Given the description of an element on the screen output the (x, y) to click on. 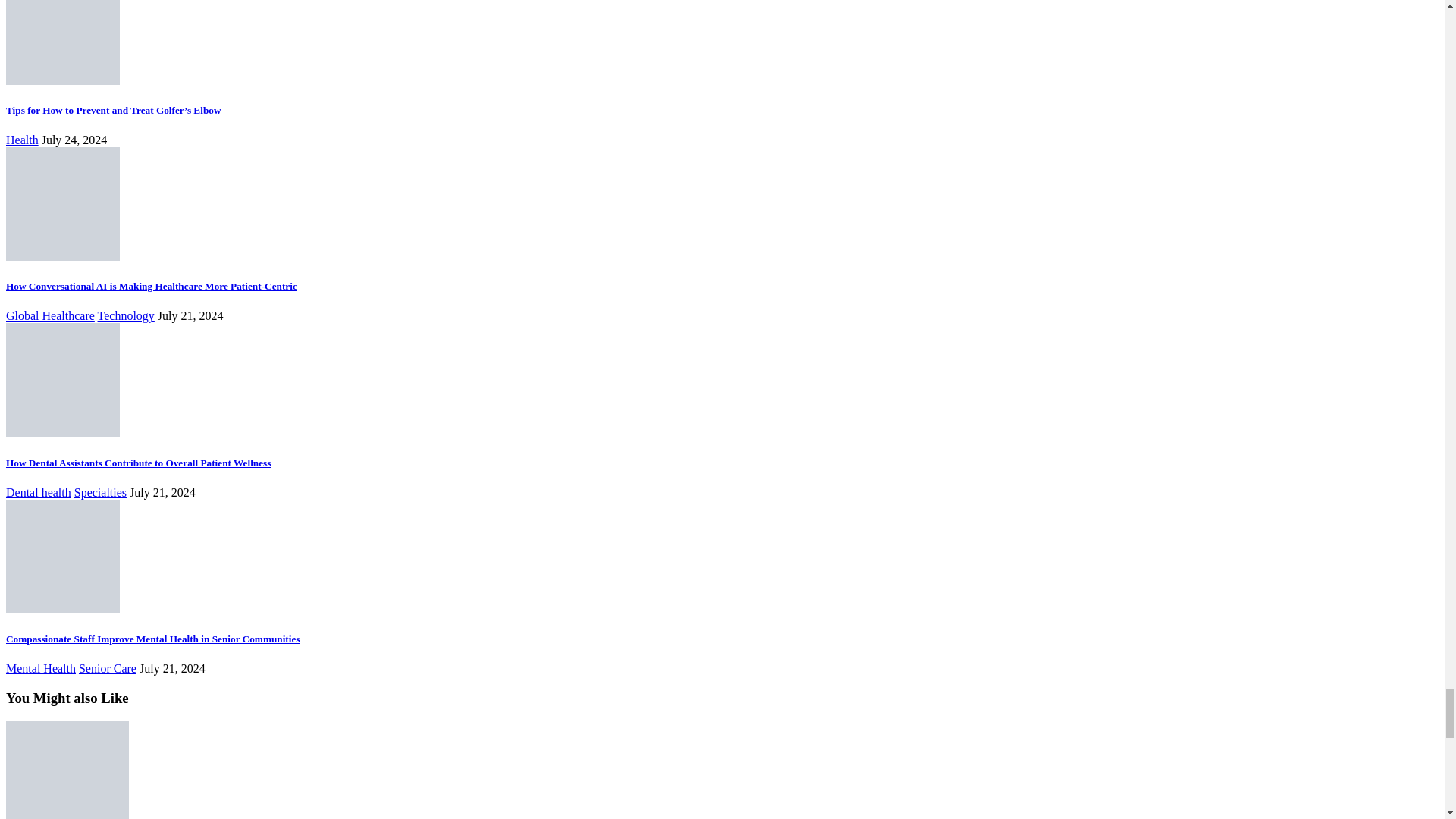
How Dental Assistants Contribute to Overall Patient Wellness (62, 431)
